Given the description of an element on the screen output the (x, y) to click on. 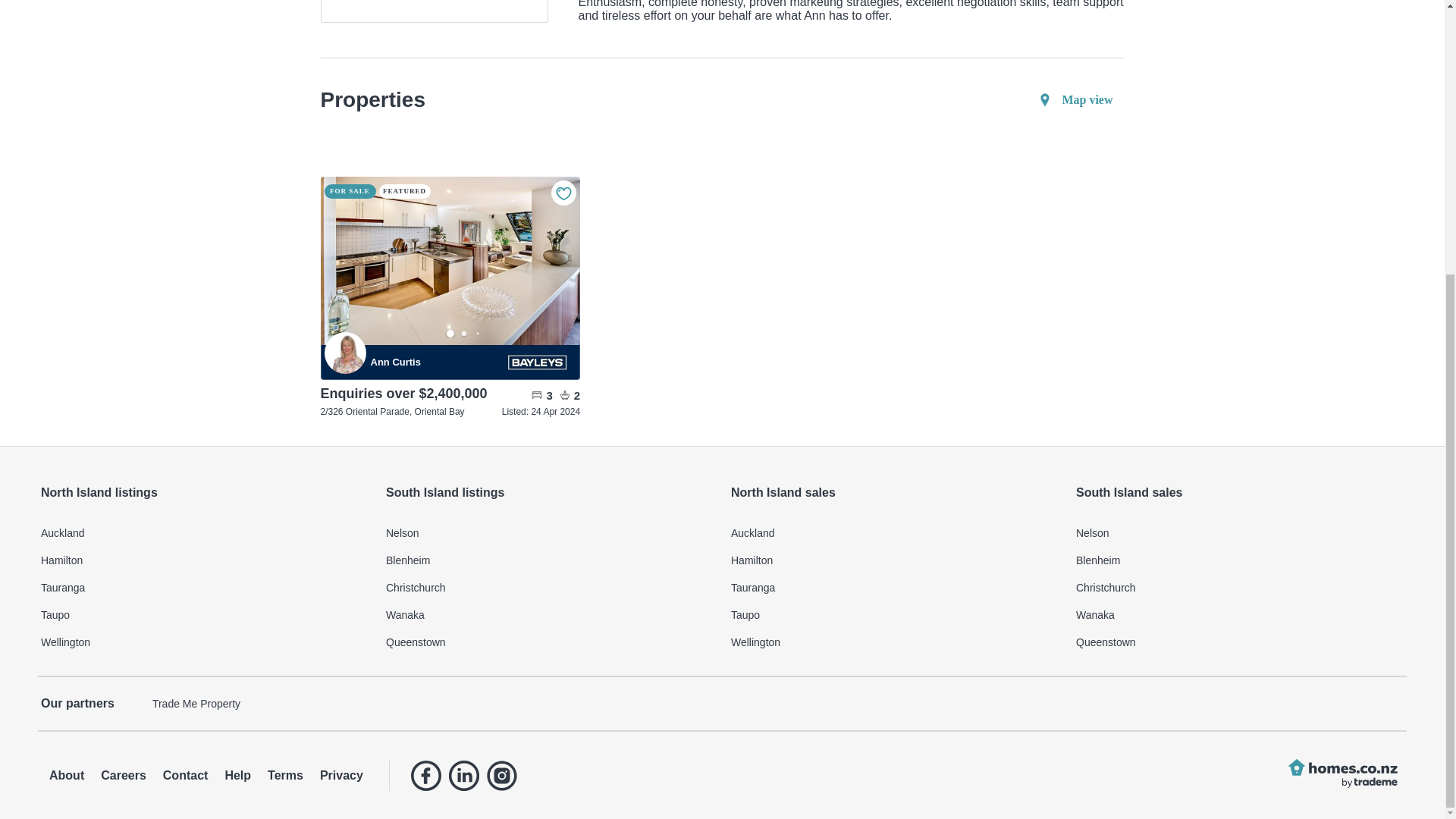
Tauranga (894, 587)
Taupo (204, 614)
Taupo (894, 614)
Wellington (204, 642)
Ann Curtis (434, 361)
Queenstown (549, 642)
Auckland (204, 532)
Ann Curtis (345, 352)
Tauranga (204, 587)
Nelson (549, 532)
Wanaka (549, 614)
facebook-icon (425, 775)
Christchurch (549, 587)
Hamilton (894, 560)
Hamilton (204, 560)
